Given the description of an element on the screen output the (x, y) to click on. 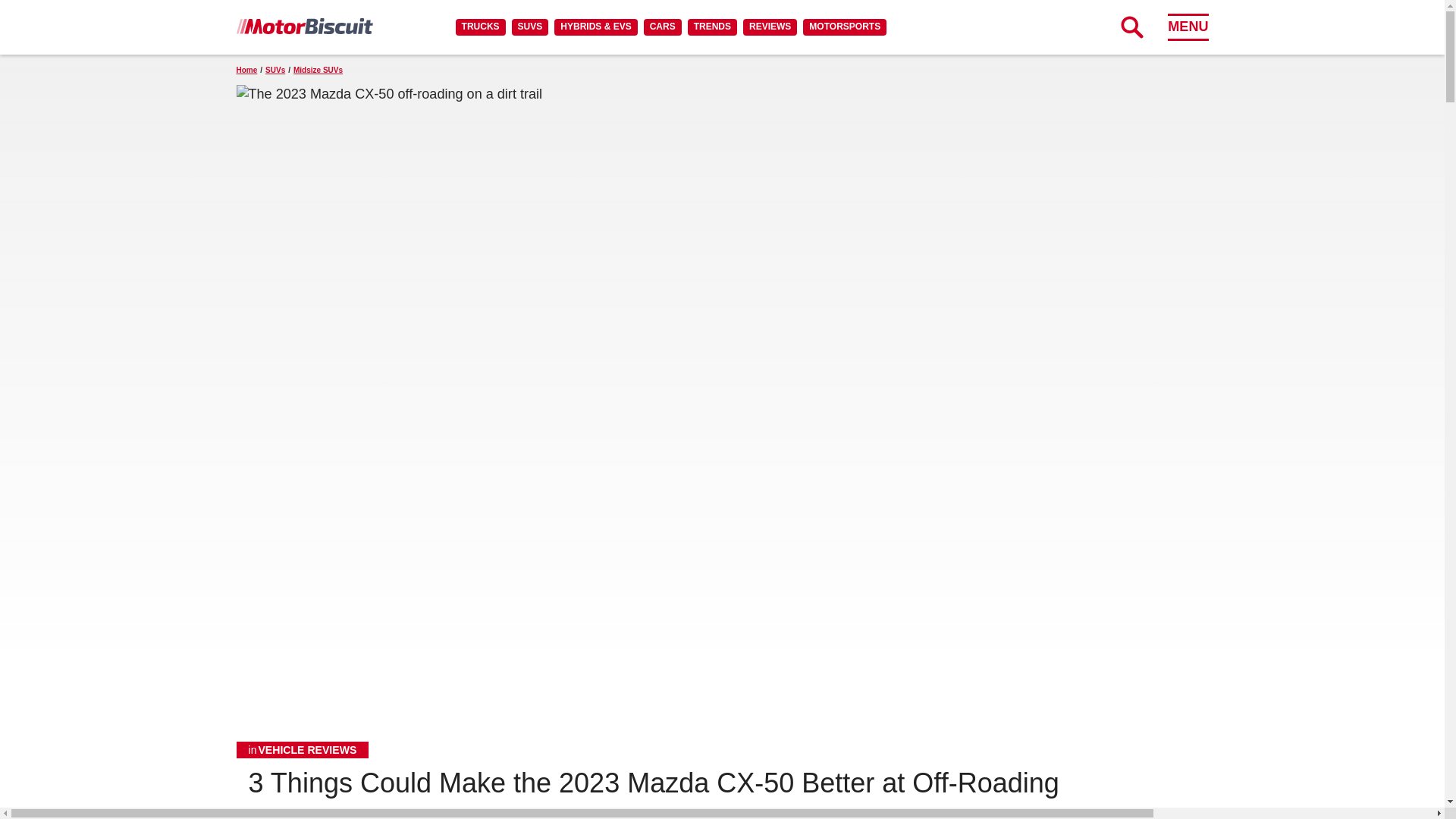
MotorBiscuit (303, 26)
CARS (662, 26)
MENU (1187, 26)
TRENDS (711, 26)
REVIEWS (769, 26)
Vehicle Reviews (302, 750)
SUVS (530, 26)
TRUCKS (480, 26)
Expand Search (1131, 26)
